Given the description of an element on the screen output the (x, y) to click on. 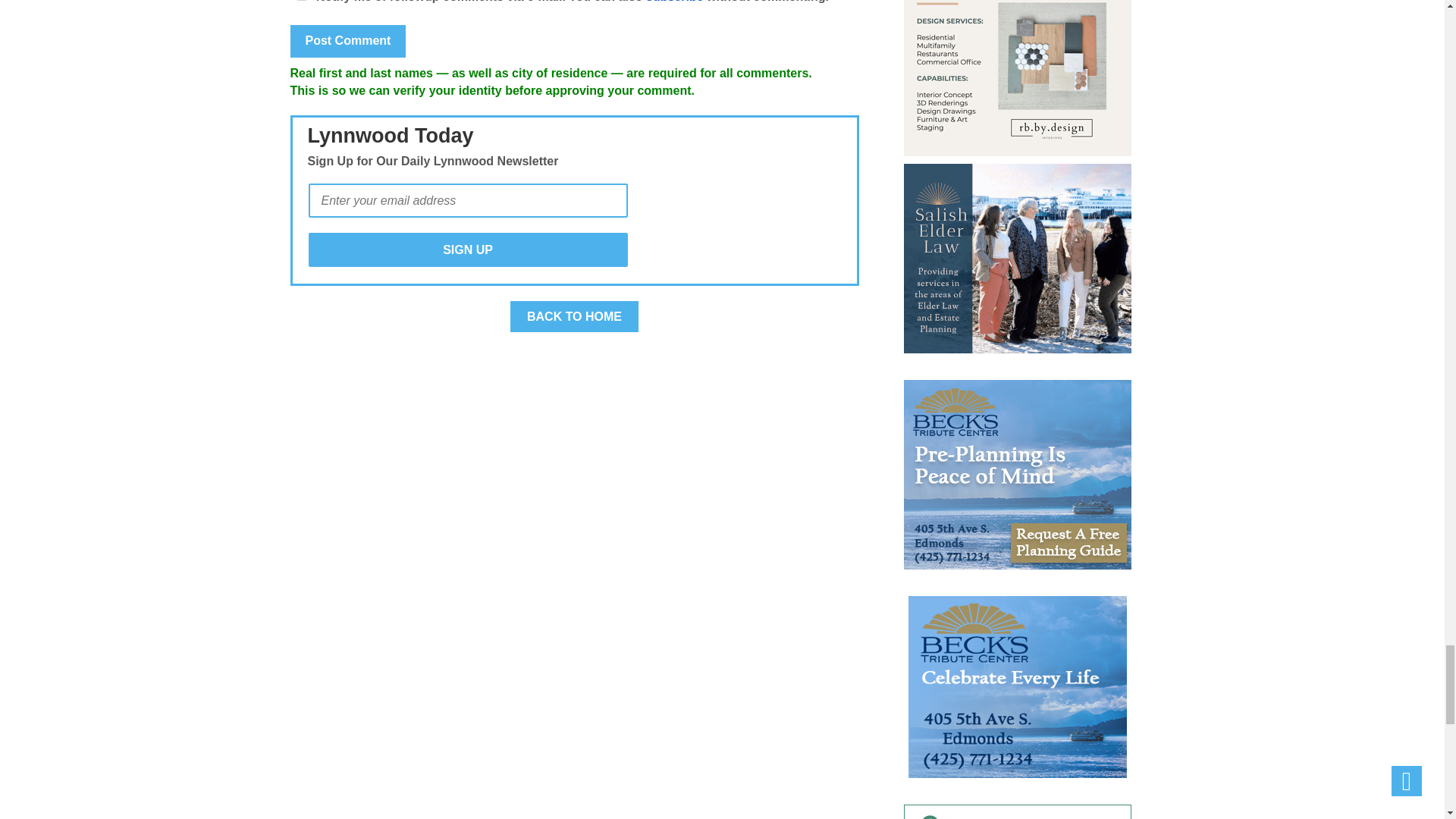
Post Comment (347, 41)
Sign Up (467, 249)
